Given the description of an element on the screen output the (x, y) to click on. 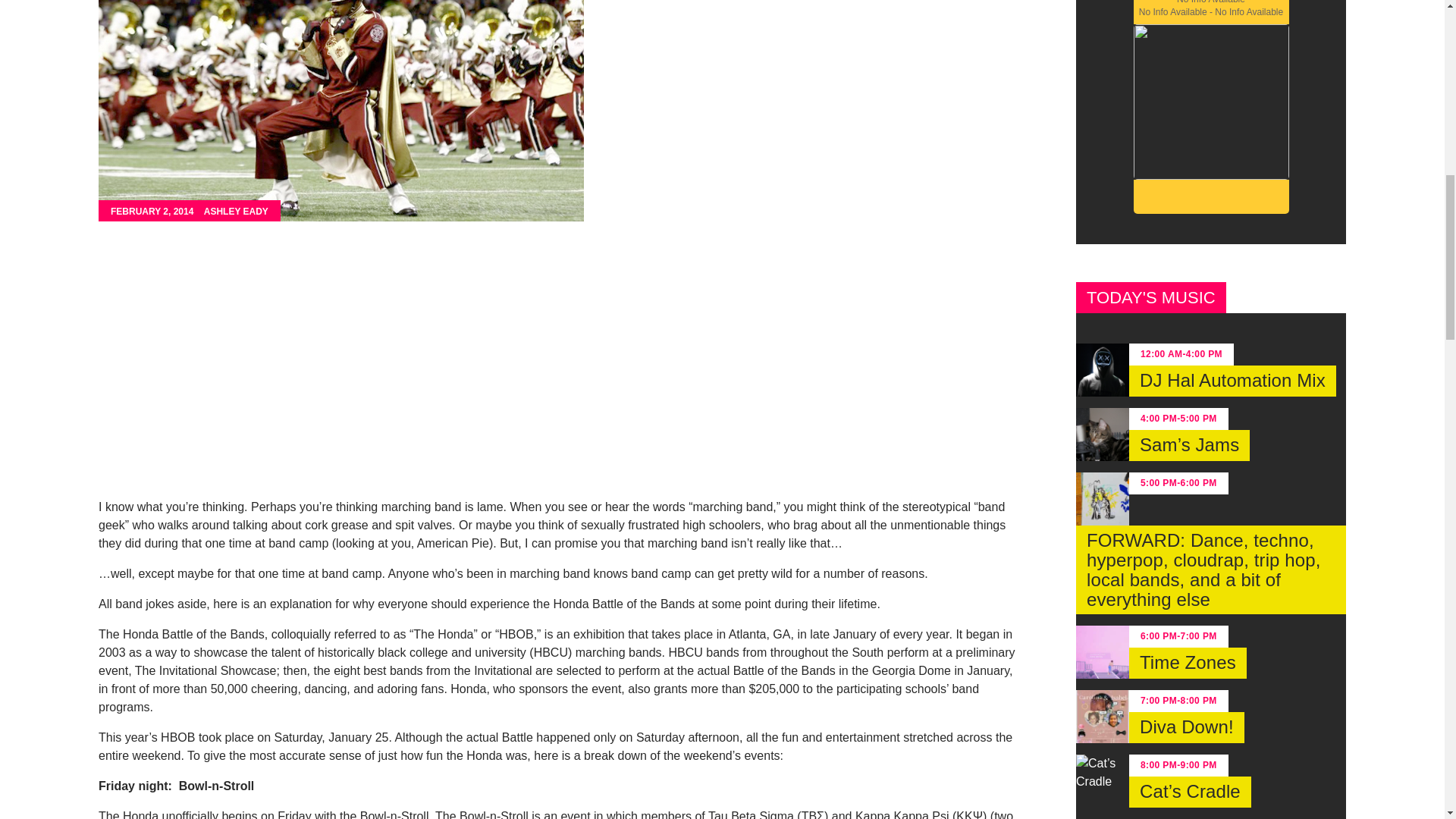
FEBRUARY 2, 2014 (151, 211)
Time Zones (1187, 662)
DJ Hal Automation Mix (1232, 380)
ASHLEY EADY (235, 211)
Diva Down! (1186, 726)
